Given the description of an element on the screen output the (x, y) to click on. 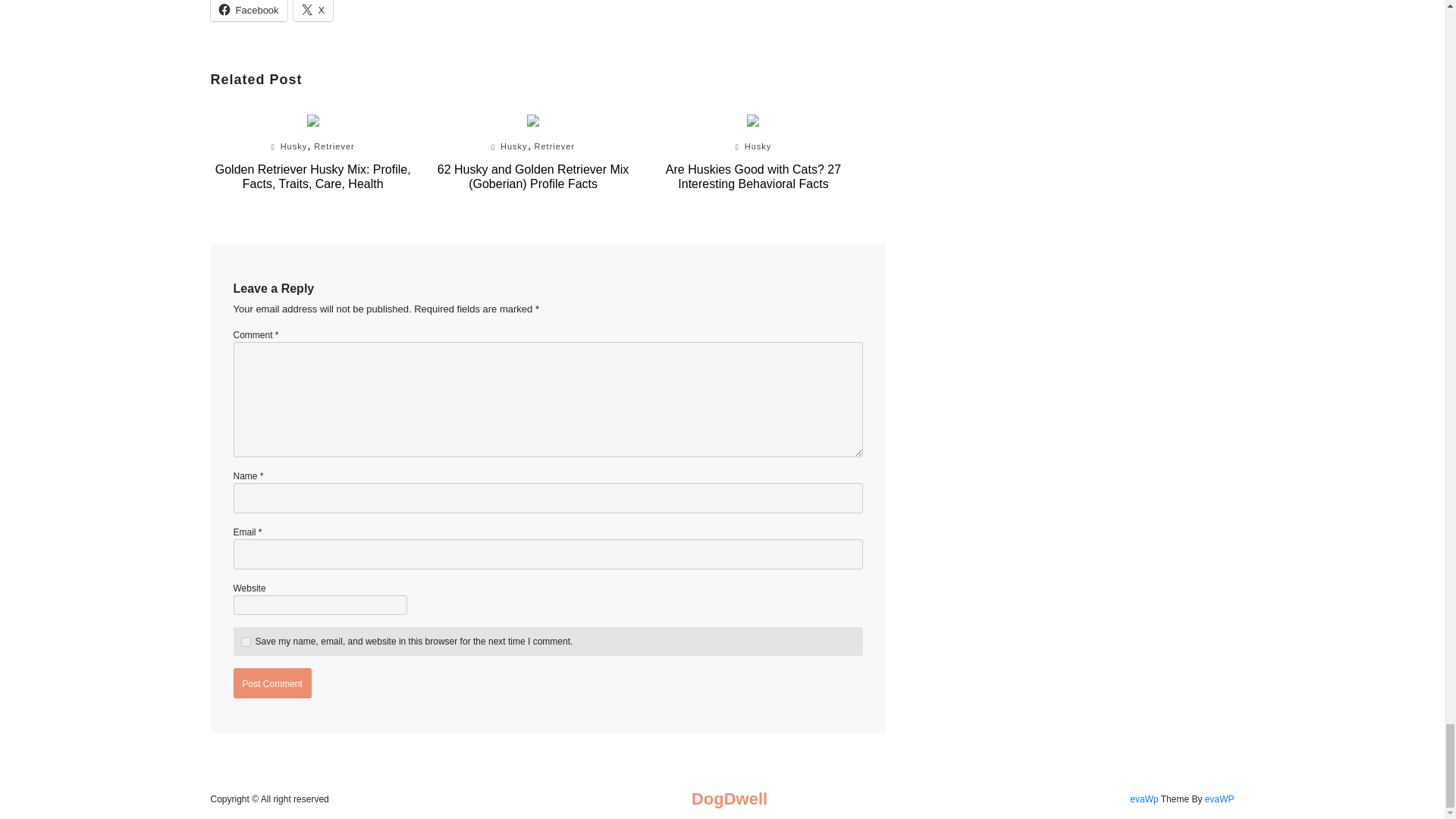
X (313, 10)
Facebook (248, 10)
Click to share on Facebook (248, 10)
Post Comment (271, 683)
yes (245, 642)
Click to share on X (313, 10)
